Given the description of an element on the screen output the (x, y) to click on. 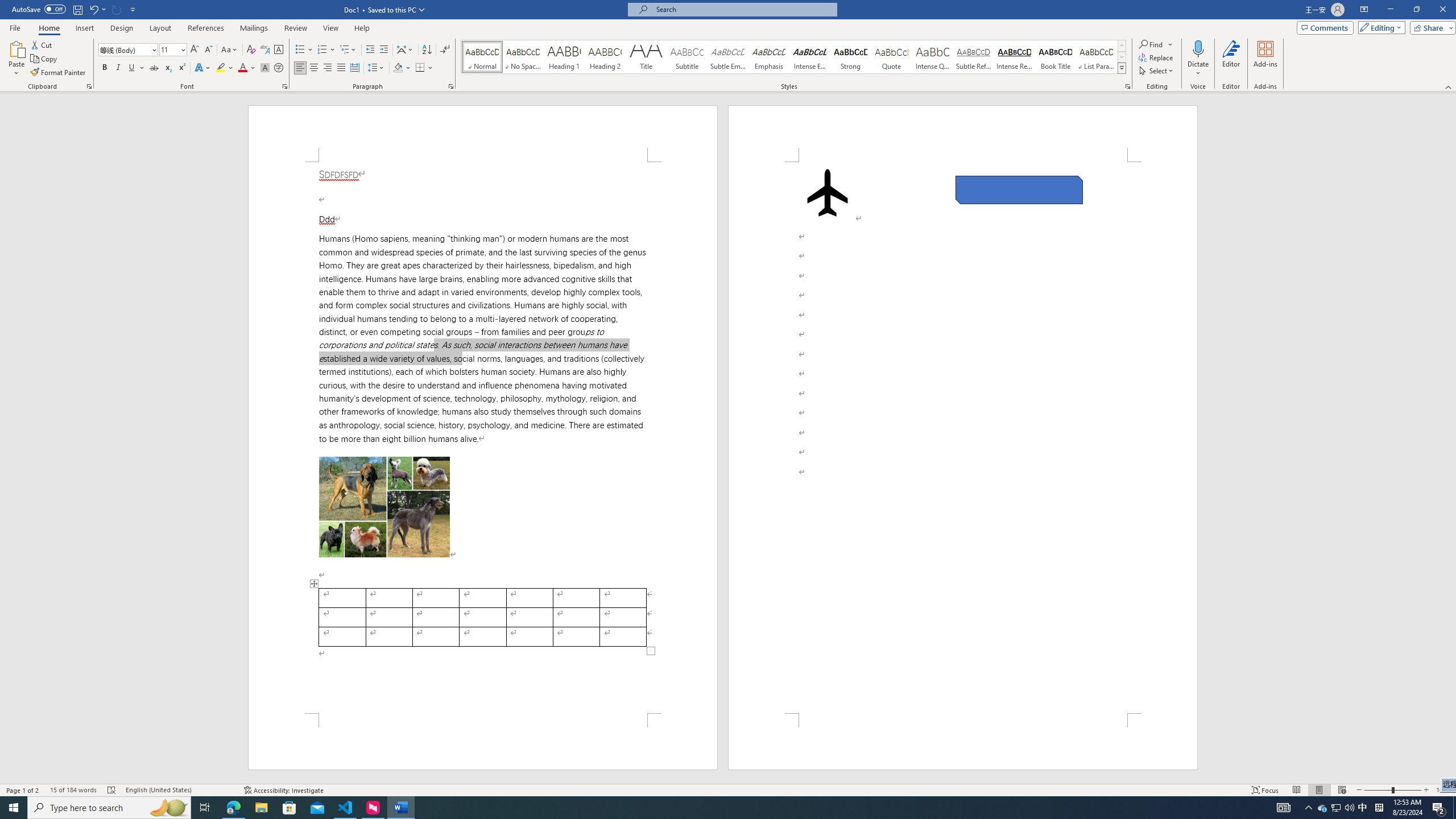
Undo Apply Quick Style Set (96, 9)
Increase Indent (383, 49)
Row up (1121, 45)
Distributed (354, 67)
Editing (1379, 27)
Strikethrough (154, 67)
Font... (285, 85)
Multilevel List (347, 49)
Intense Emphasis (809, 56)
Select (1157, 69)
Show/Hide Editing Marks (444, 49)
Heading 2 (605, 56)
